Given the description of an element on the screen output the (x, y) to click on. 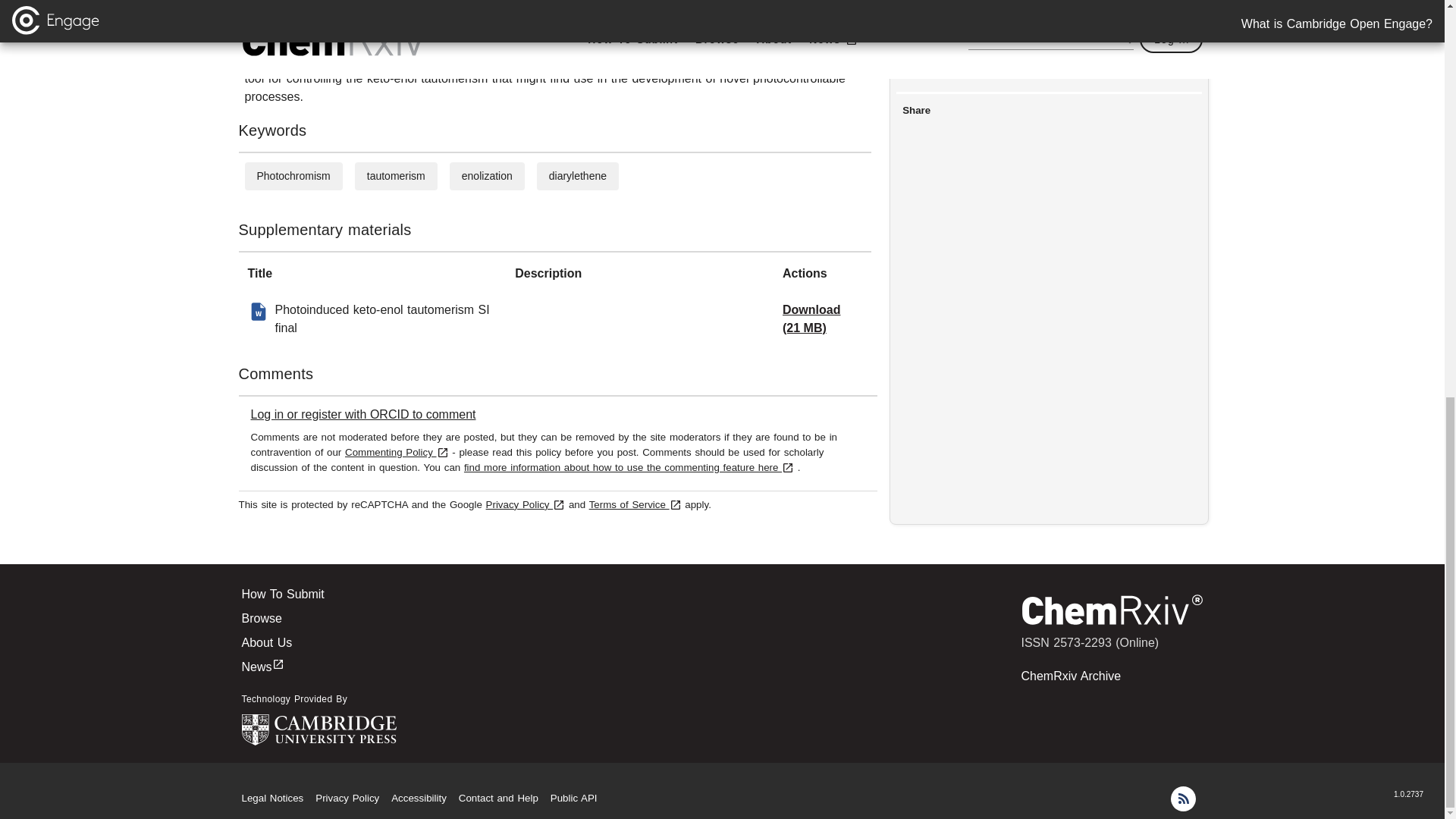
Log in or register with ORCID to comment (363, 414)
tautomerism (395, 175)
enolization (486, 175)
Photochromism (293, 175)
diarylethene (577, 175)
